Given the description of an element on the screen output the (x, y) to click on. 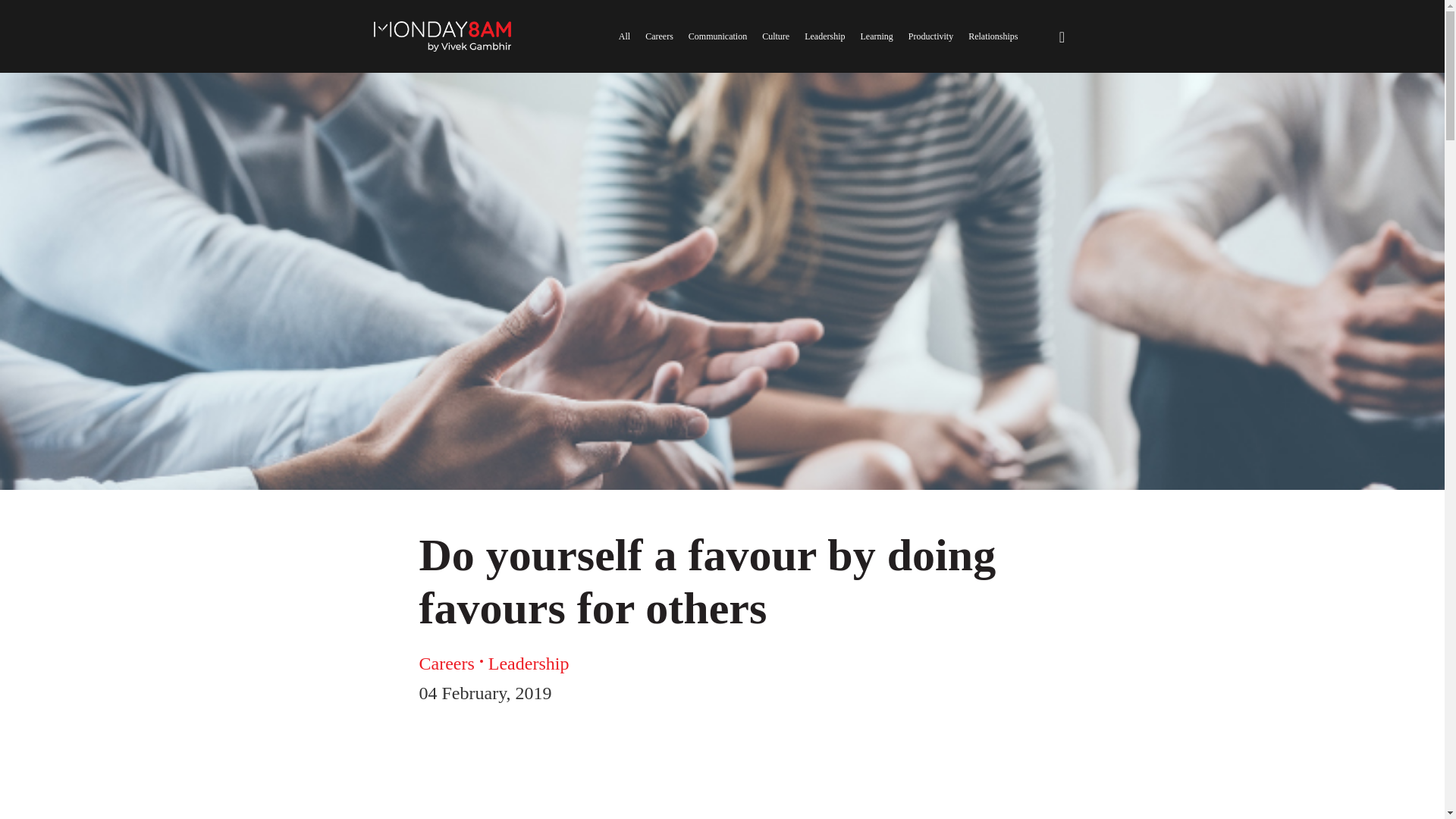
Careers (658, 36)
Tweet this (1418, 656)
Leadership (528, 663)
Learning (876, 36)
Careers (446, 663)
Culture (775, 36)
Share this (1418, 610)
Communication (717, 36)
Relationships (992, 36)
Leadership (824, 36)
